Given the description of an element on the screen output the (x, y) to click on. 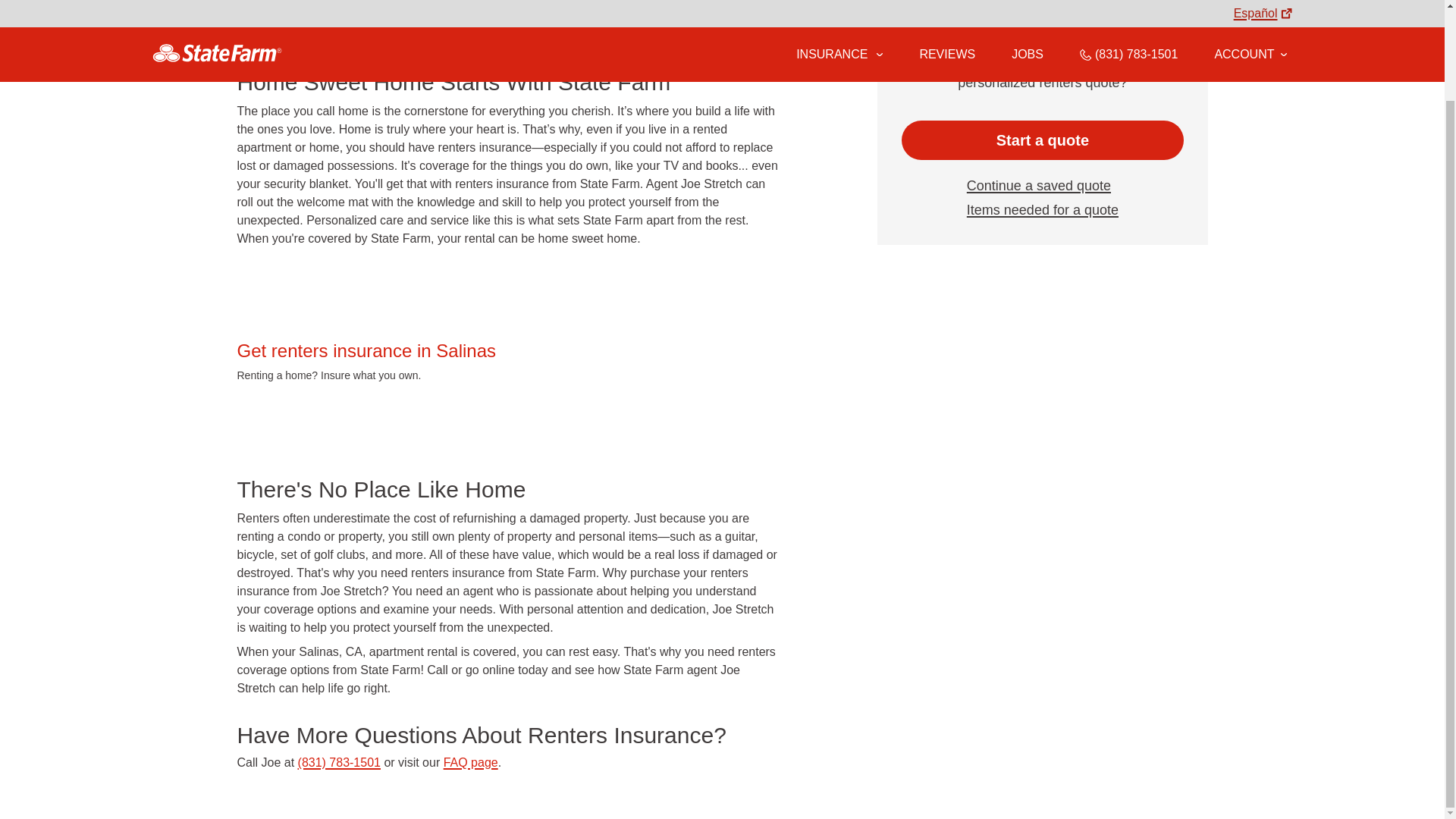
FAQ page (470, 762)
